Given the description of an element on the screen output the (x, y) to click on. 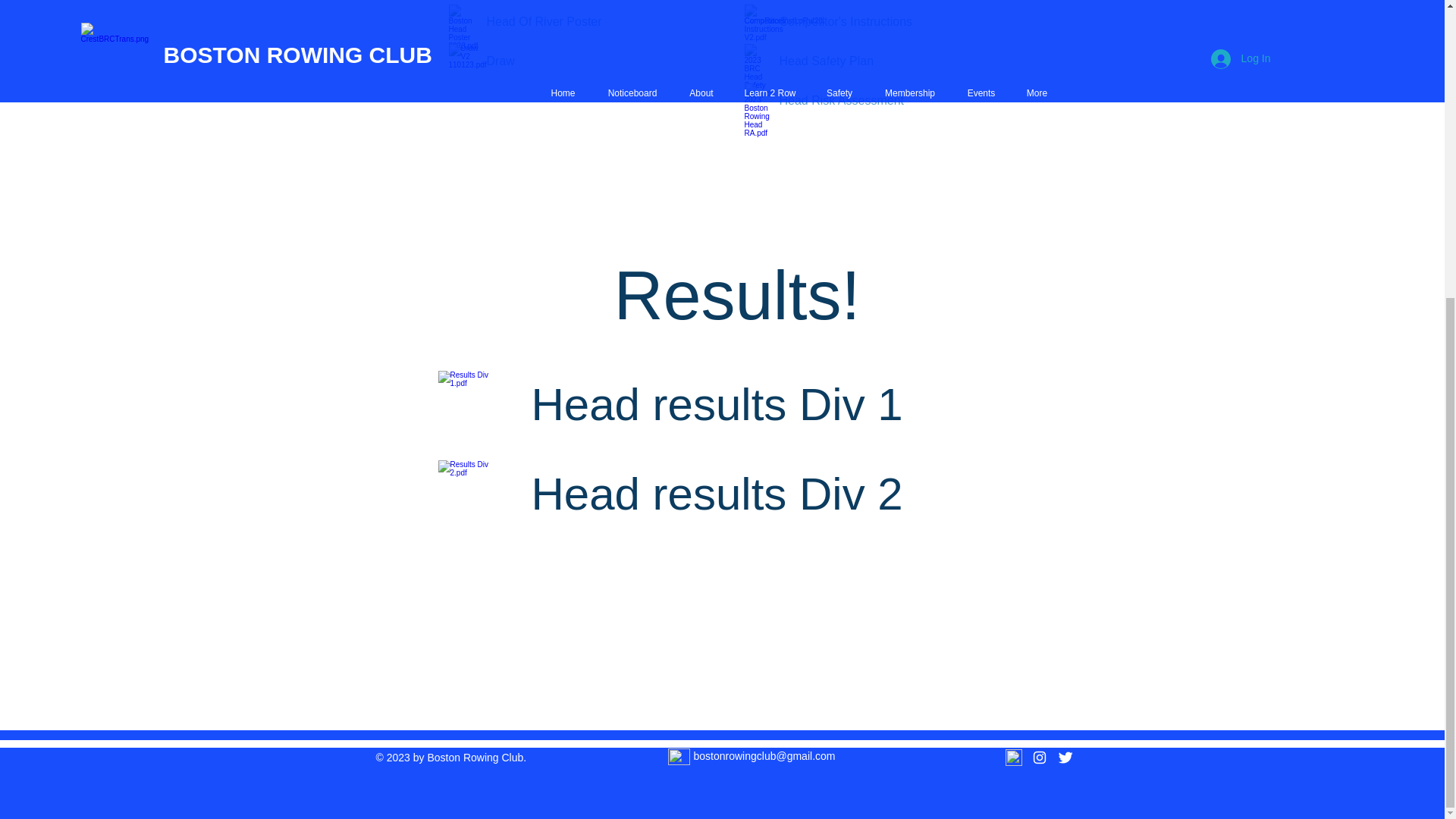
Results Div 2.pdf (467, 494)
Results Div 1.pdf (467, 404)
